Given the description of an element on the screen output the (x, y) to click on. 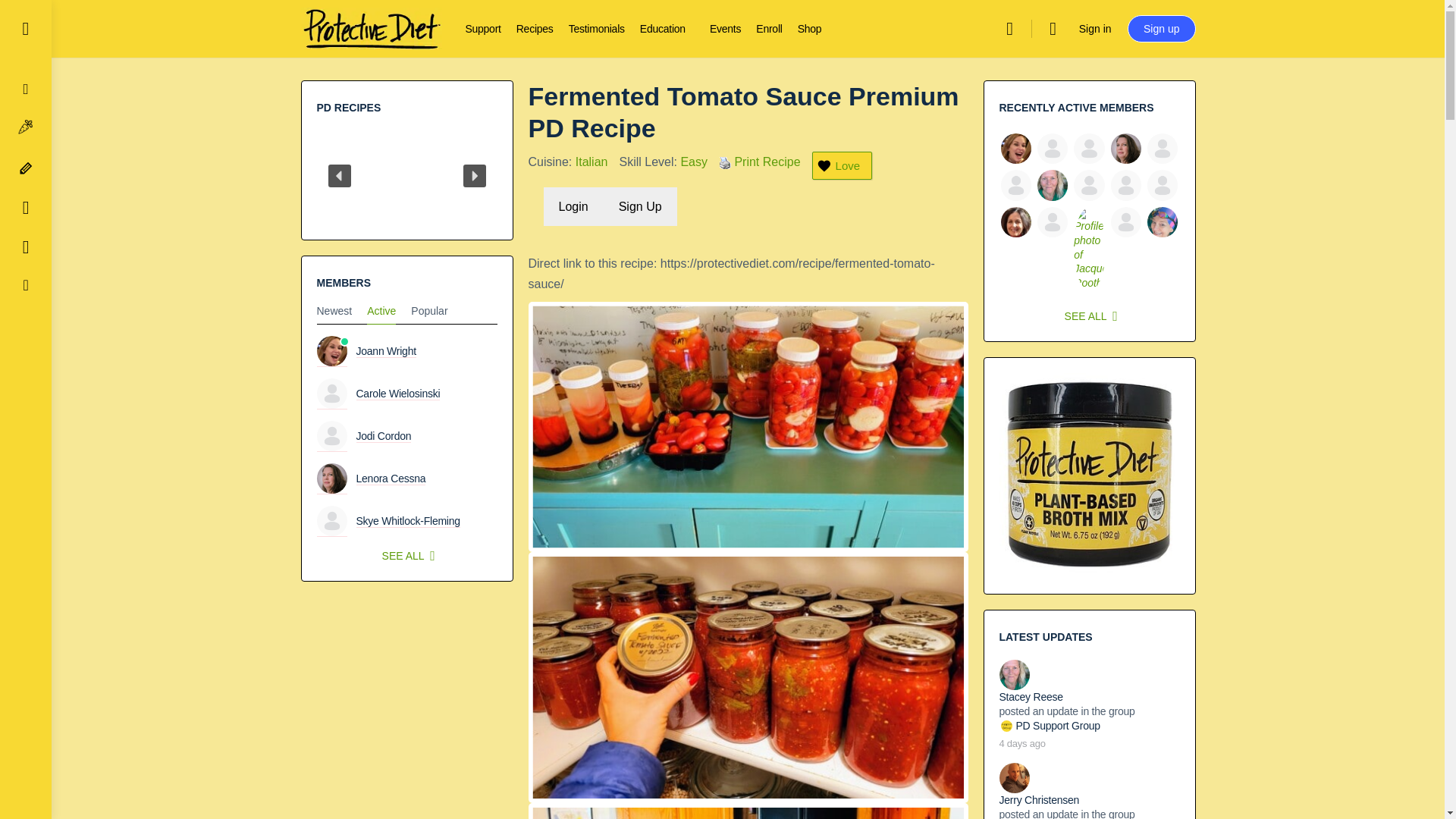
Sign in (1095, 28)
Print Recipe (766, 161)
Testimonials (596, 28)
Print Recipe (724, 162)
Sign up (1160, 28)
Print Recipe (724, 161)
